Given the description of an element on the screen output the (x, y) to click on. 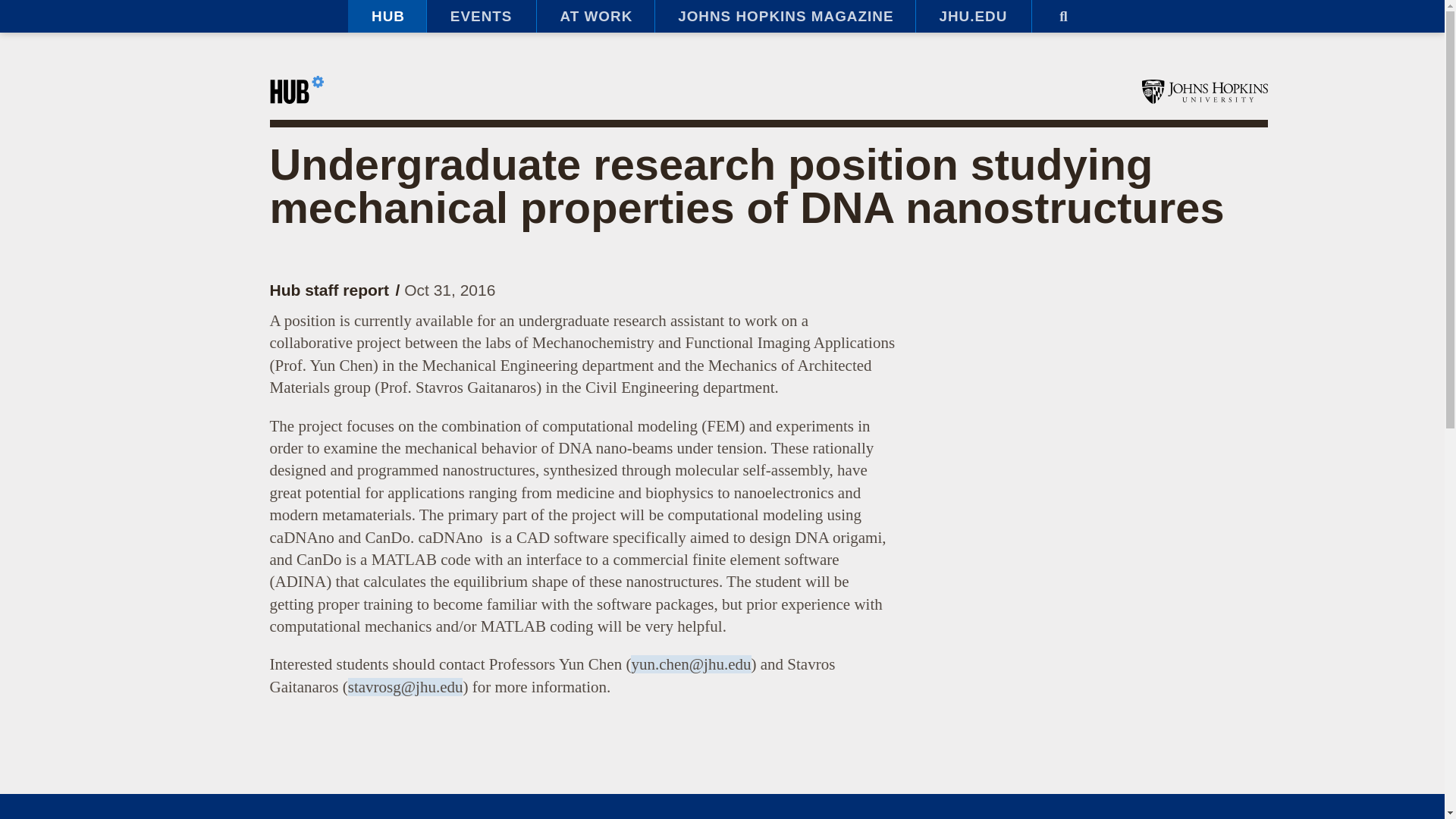
JHU.EDU (972, 16)
HUB (386, 16)
JOHNS HOPKINS MAGAZINE (784, 16)
AT WORK (594, 16)
Johns Hopkins University (1204, 91)
EVENTS (480, 16)
